Given the description of an element on the screen output the (x, y) to click on. 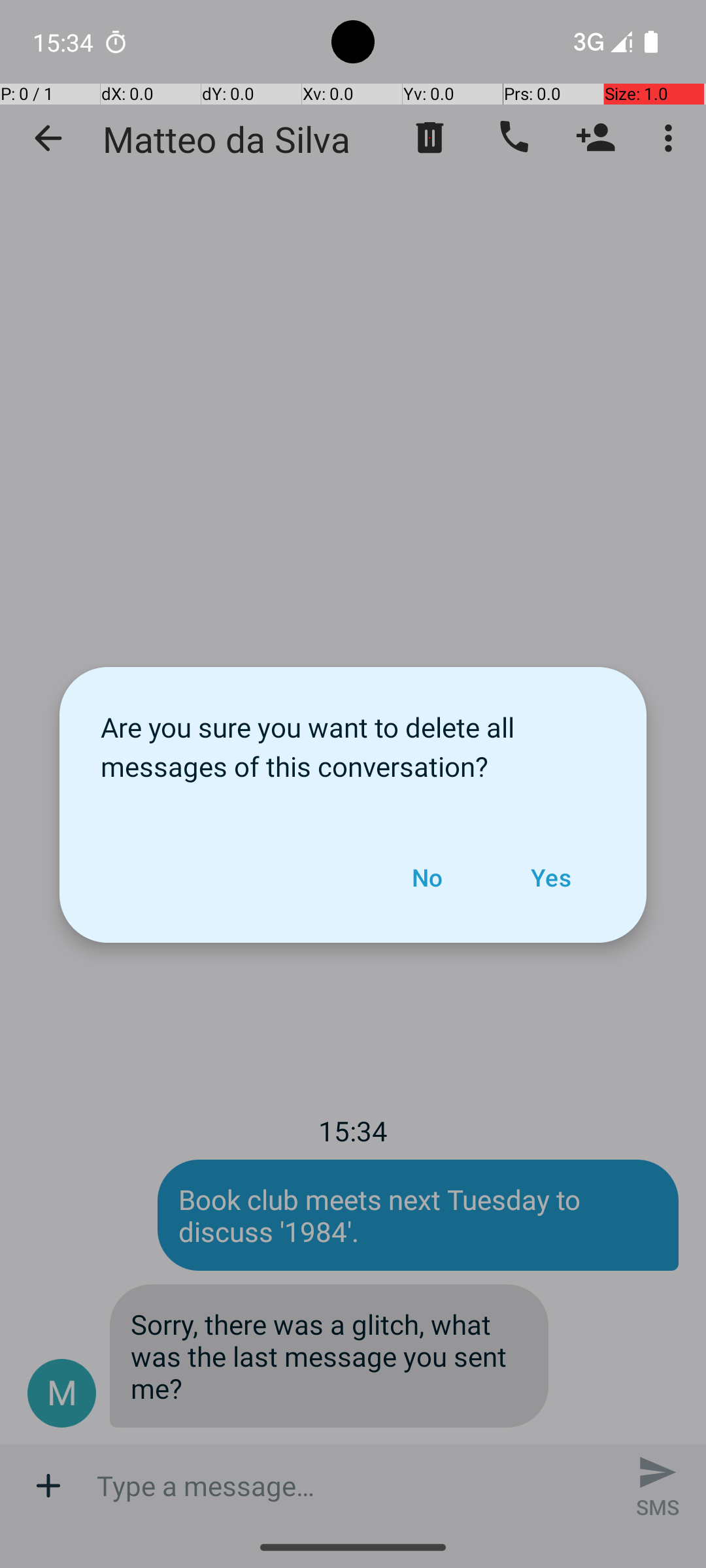
Are you sure you want to delete all messages of this conversation? Element type: android.widget.TextView (352, 739)
